Given the description of an element on the screen output the (x, y) to click on. 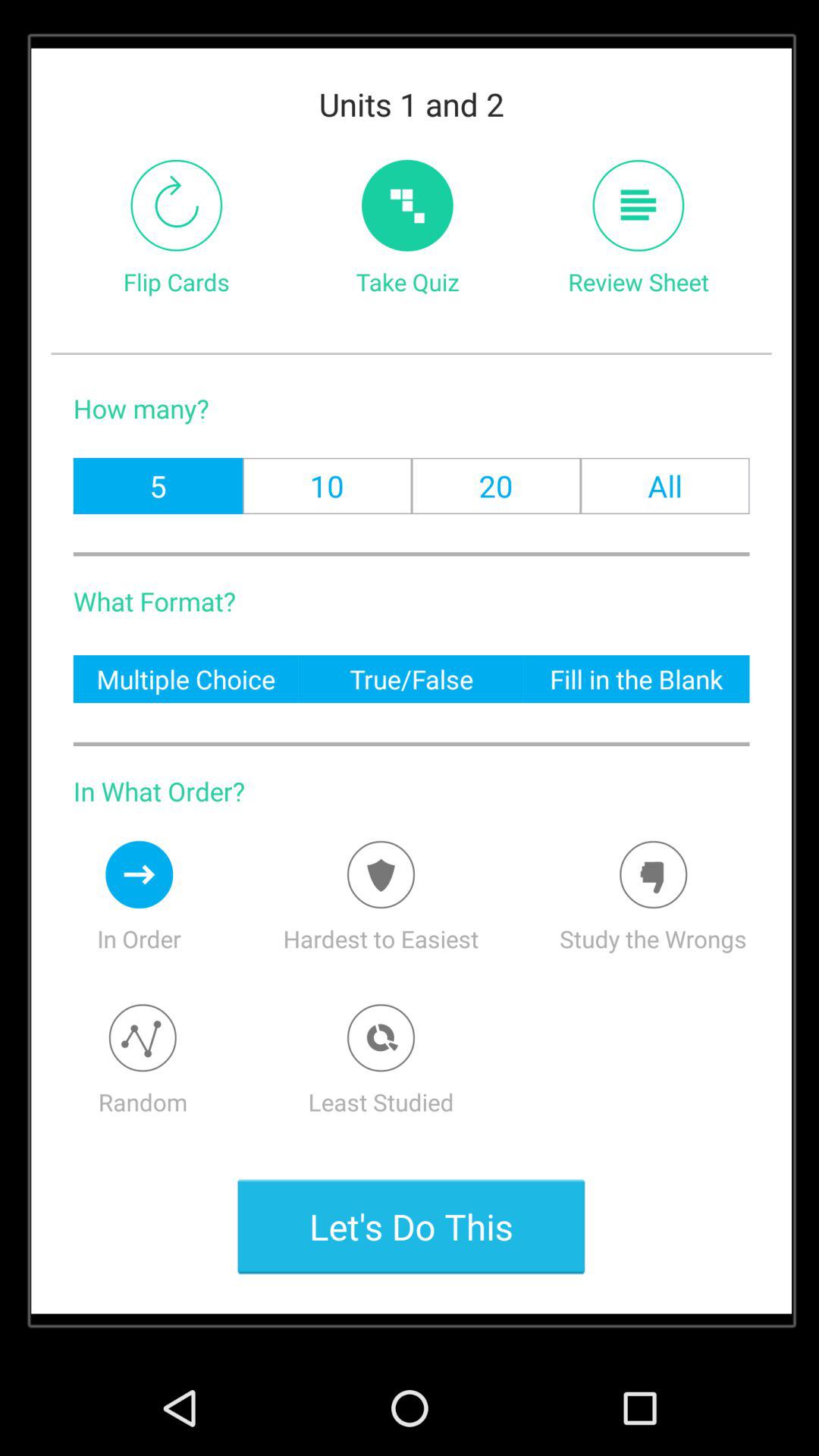
press the icon next to multiple choice (410, 678)
